Given the description of an element on the screen output the (x, y) to click on. 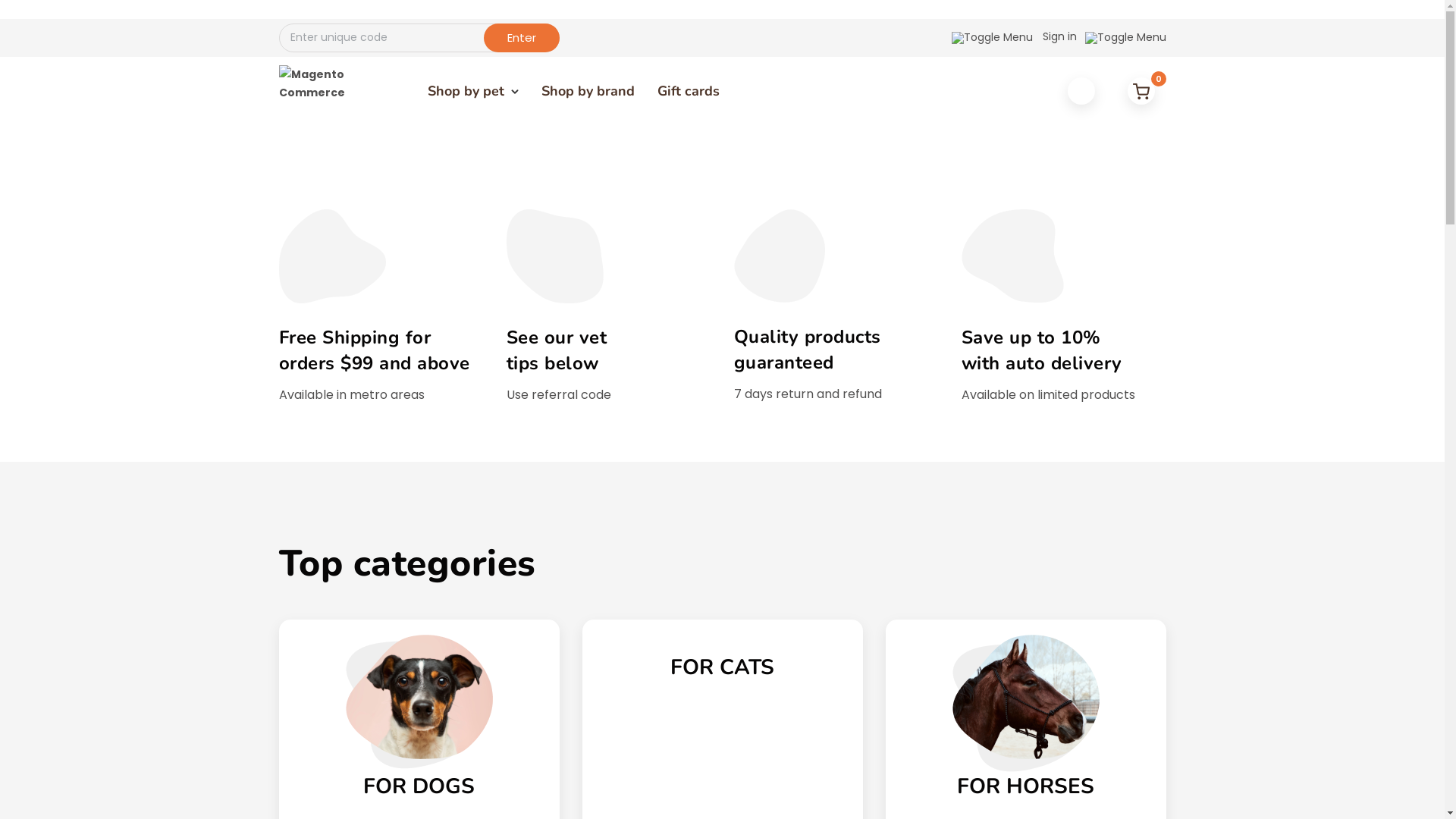
Gift cards Element type: text (687, 90)
Sign in Element type: text (1057, 43)
Shop by brand Element type: text (587, 90)
Shop by pet Element type: text (472, 90)
Enter Element type: text (521, 36)
